Given the description of an element on the screen output the (x, y) to click on. 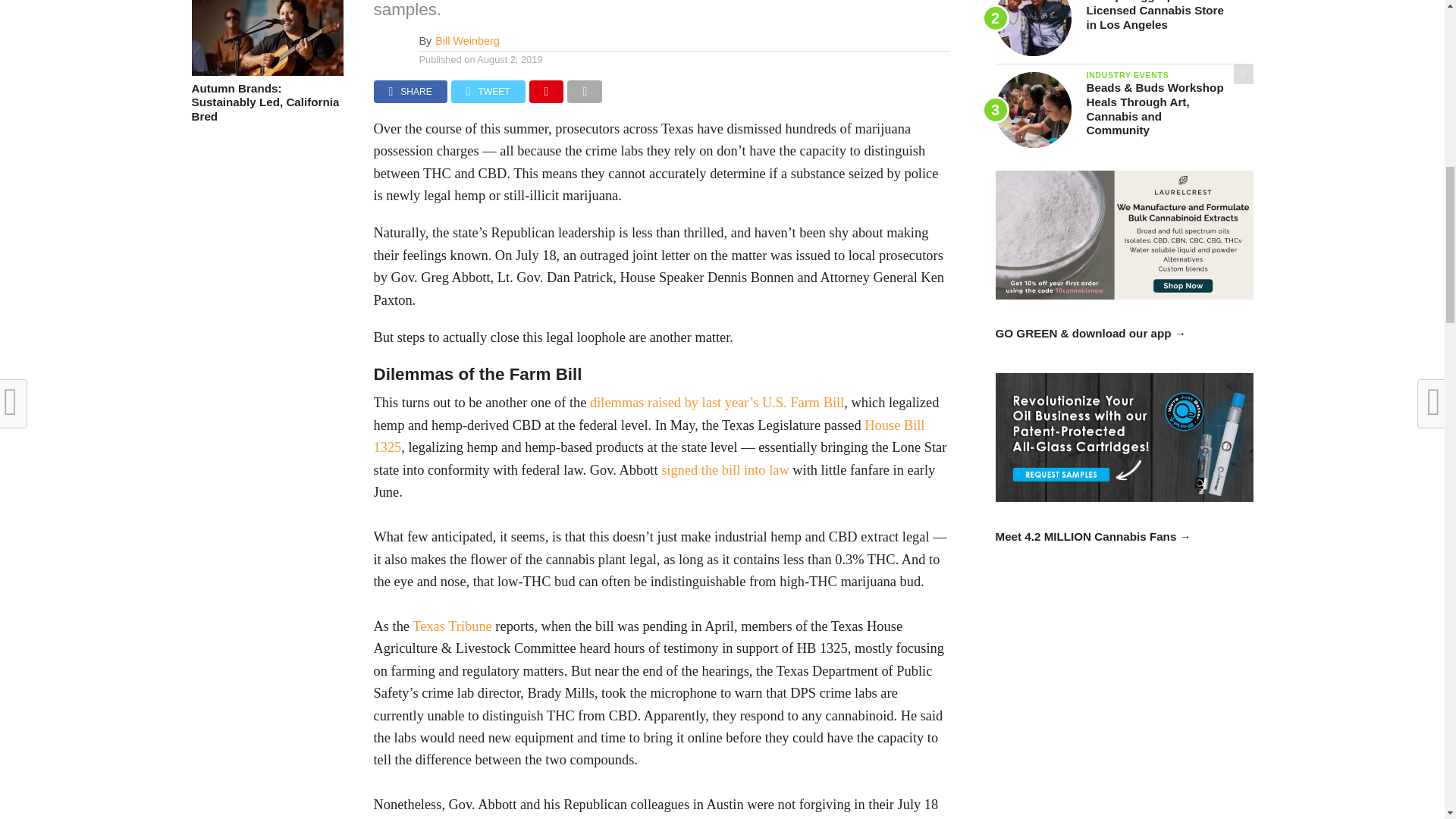
Posts by Bill Weinberg (467, 40)
Autumn Brands: Sustainably Led, California Bred (266, 71)
